Given the description of an element on the screen output the (x, y) to click on. 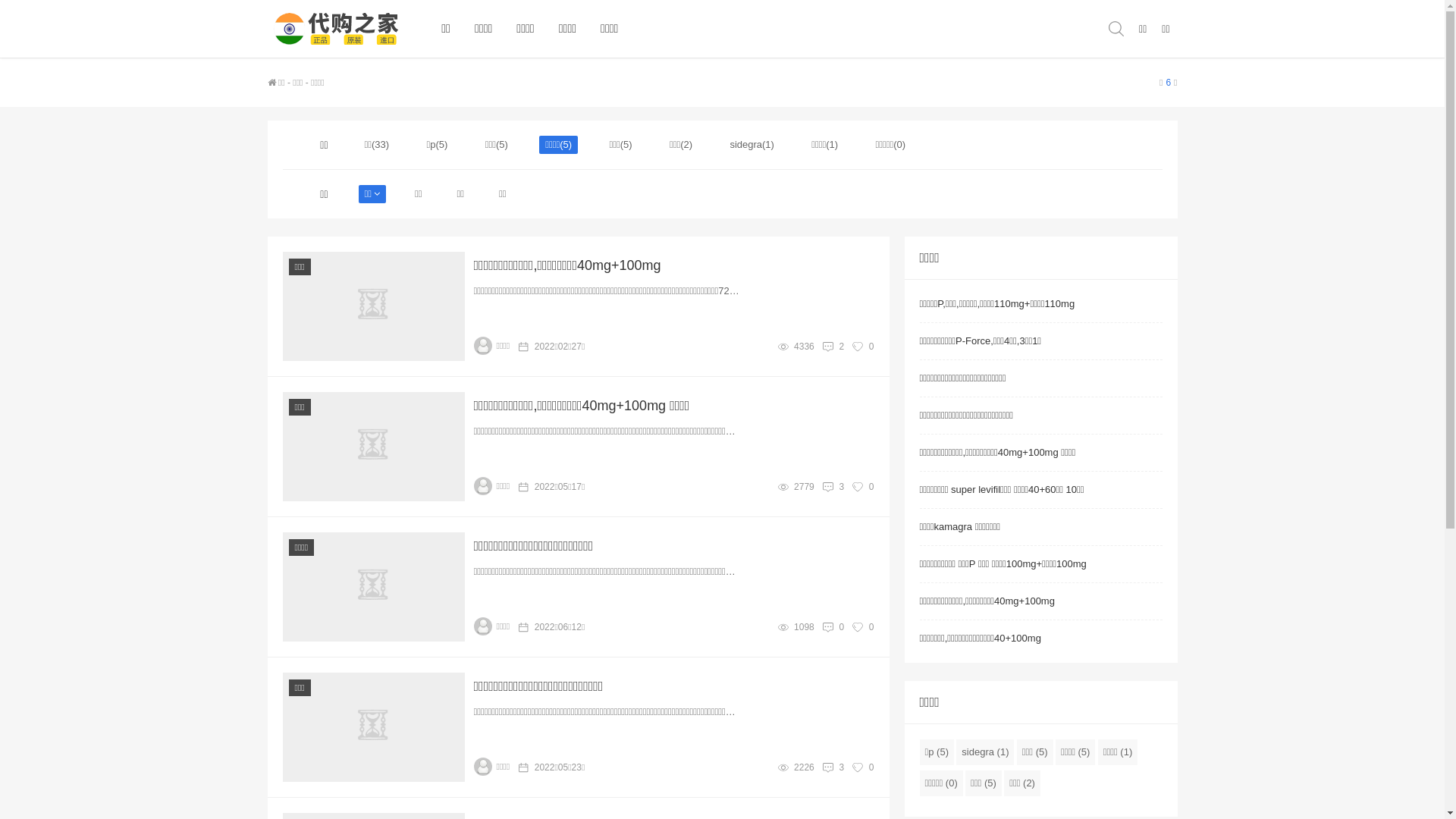
3 Element type: text (841, 767)
sidegra(1) Element type: text (751, 144)
3 Element type: text (841, 486)
sidegra (1) Element type: text (984, 752)
0 Element type: text (841, 626)
2 Element type: text (841, 346)
